Given the description of an element on the screen output the (x, y) to click on. 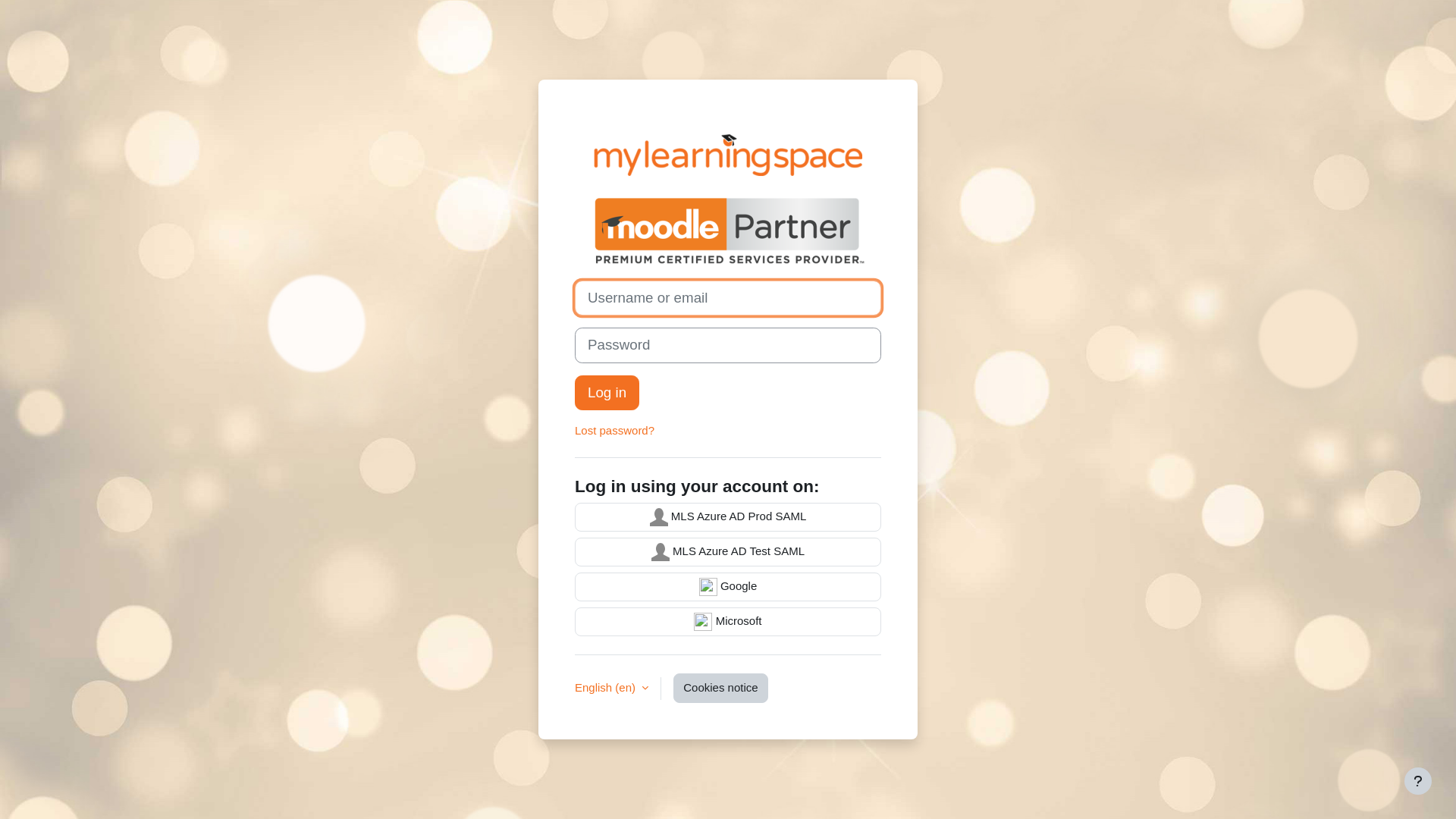
Log in Element type: text (606, 391)
Cookies notice Element type: text (720, 687)
MLS Azure AD Prod SAML Element type: text (727, 516)
English (en) Element type: text (611, 687)
MLS Azure AD Test SAML Element type: text (727, 551)
Lost password? Element type: text (614, 429)
Google Element type: text (727, 586)
Microsoft Element type: text (727, 621)
